Given the description of an element on the screen output the (x, y) to click on. 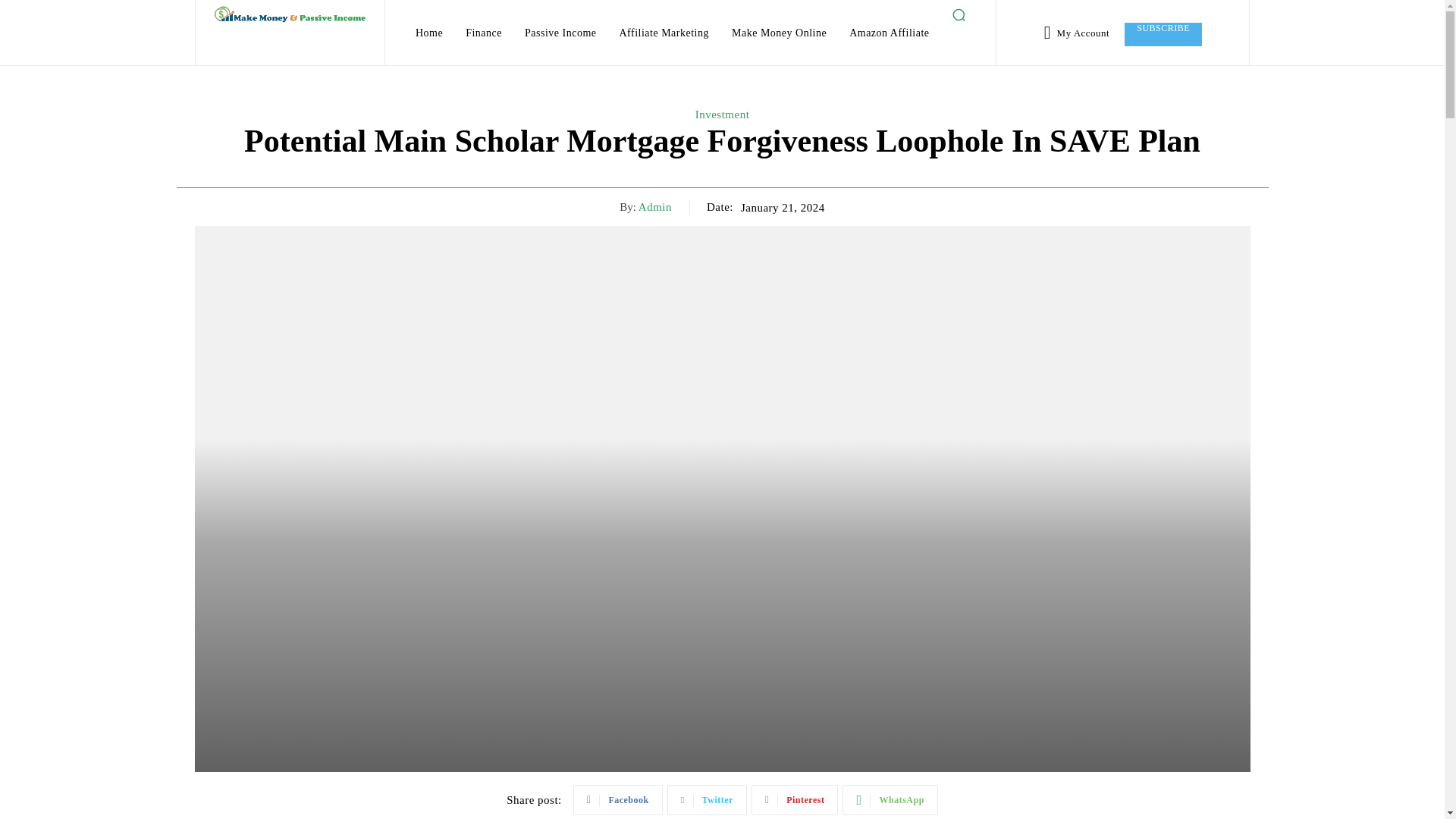
Amazon Affiliate (888, 33)
Facebook (617, 799)
SUBSCRIBE (1163, 33)
Home (428, 33)
Passive Income (560, 33)
Pinterest (794, 799)
Make Money Online (778, 33)
WhatsApp (890, 799)
Finance (483, 33)
Affiliate Marketing (663, 33)
Twitter (706, 799)
